Given the description of an element on the screen output the (x, y) to click on. 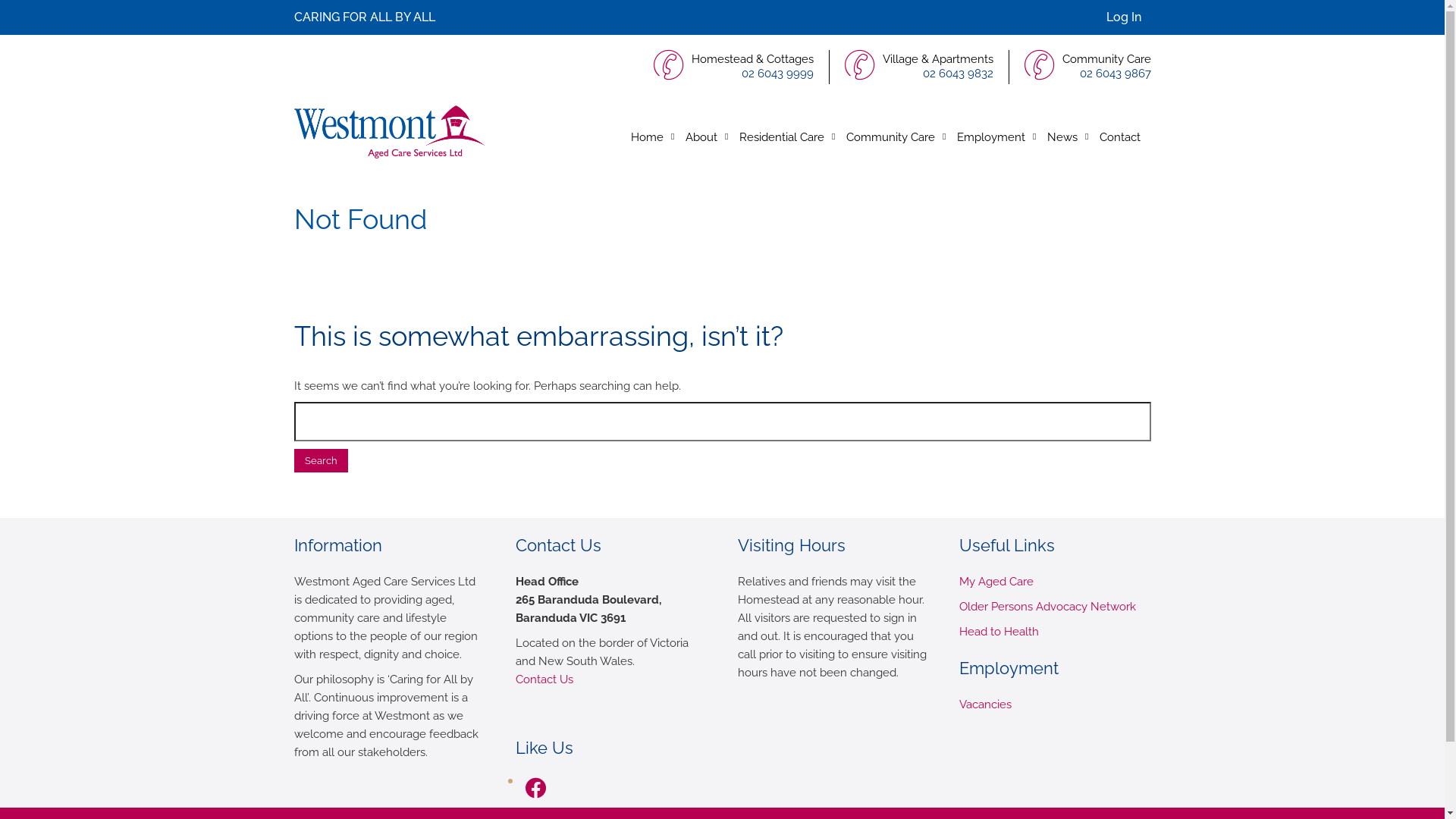
Head to Health Element type: text (998, 631)
Employment Element type: text (991, 136)
facebook Element type: text (535, 786)
Residential Care Element type: text (781, 136)
Vacancies Element type: text (985, 704)
About Element type: text (701, 136)
News Element type: text (1061, 136)
Home Element type: text (647, 136)
Older Persons Advocacy Network Element type: text (1047, 606)
Community Care Element type: text (890, 136)
Contact Us Element type: text (544, 679)
Log In Element type: text (1123, 17)
Contact Element type: text (1119, 136)
My Aged Care Element type: text (996, 581)
Search Element type: text (321, 460)
